Given the description of an element on the screen output the (x, y) to click on. 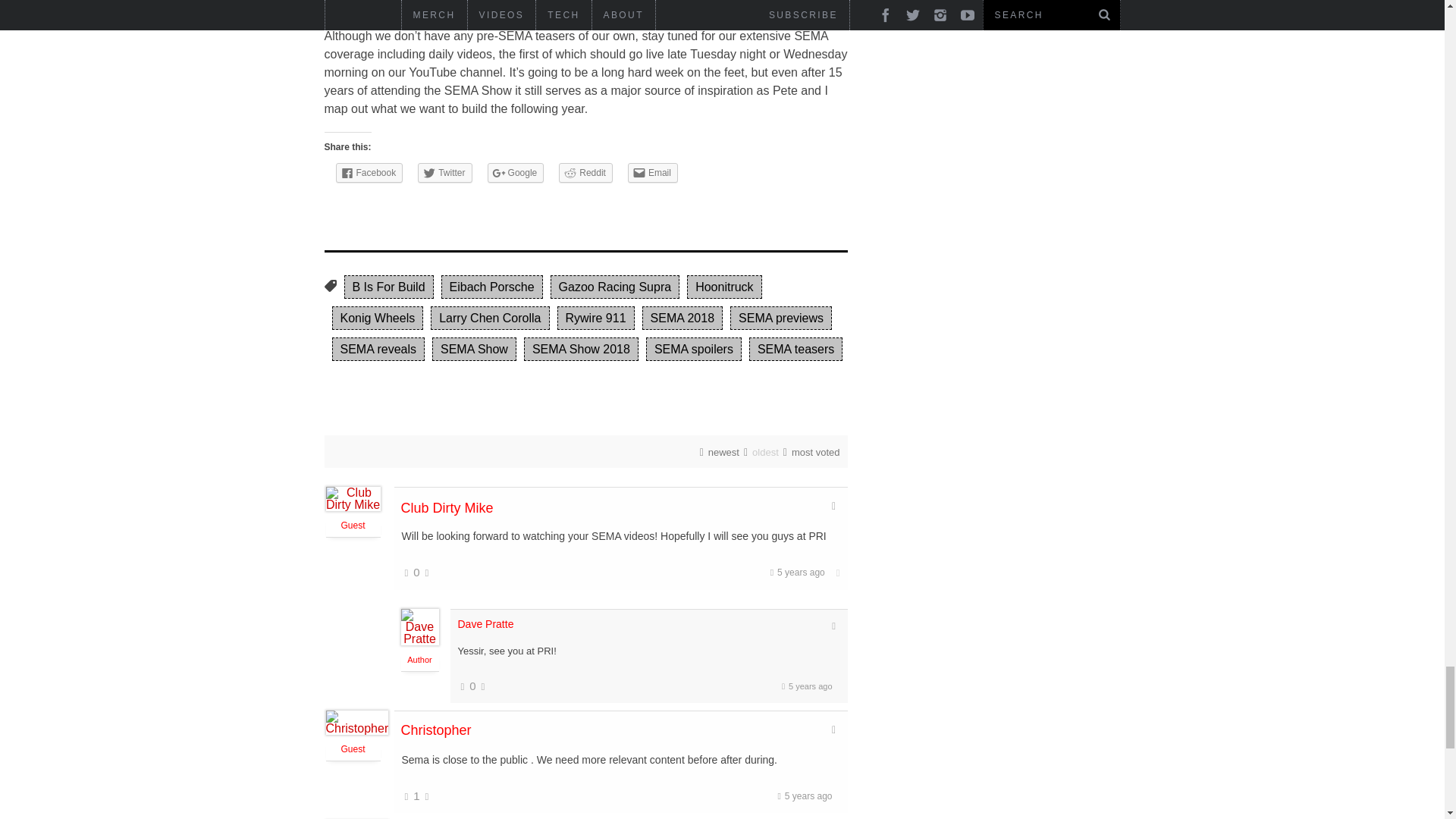
Reddit (585, 172)
B Is For Build (388, 286)
Email (652, 172)
Eibach Porsche (492, 286)
Click to share on Twitter (444, 172)
Click to share on Reddit (585, 172)
Facebook (368, 172)
Twitter (444, 172)
Google (515, 172)
Click to share on Facebook (368, 172)
